Given the description of an element on the screen output the (x, y) to click on. 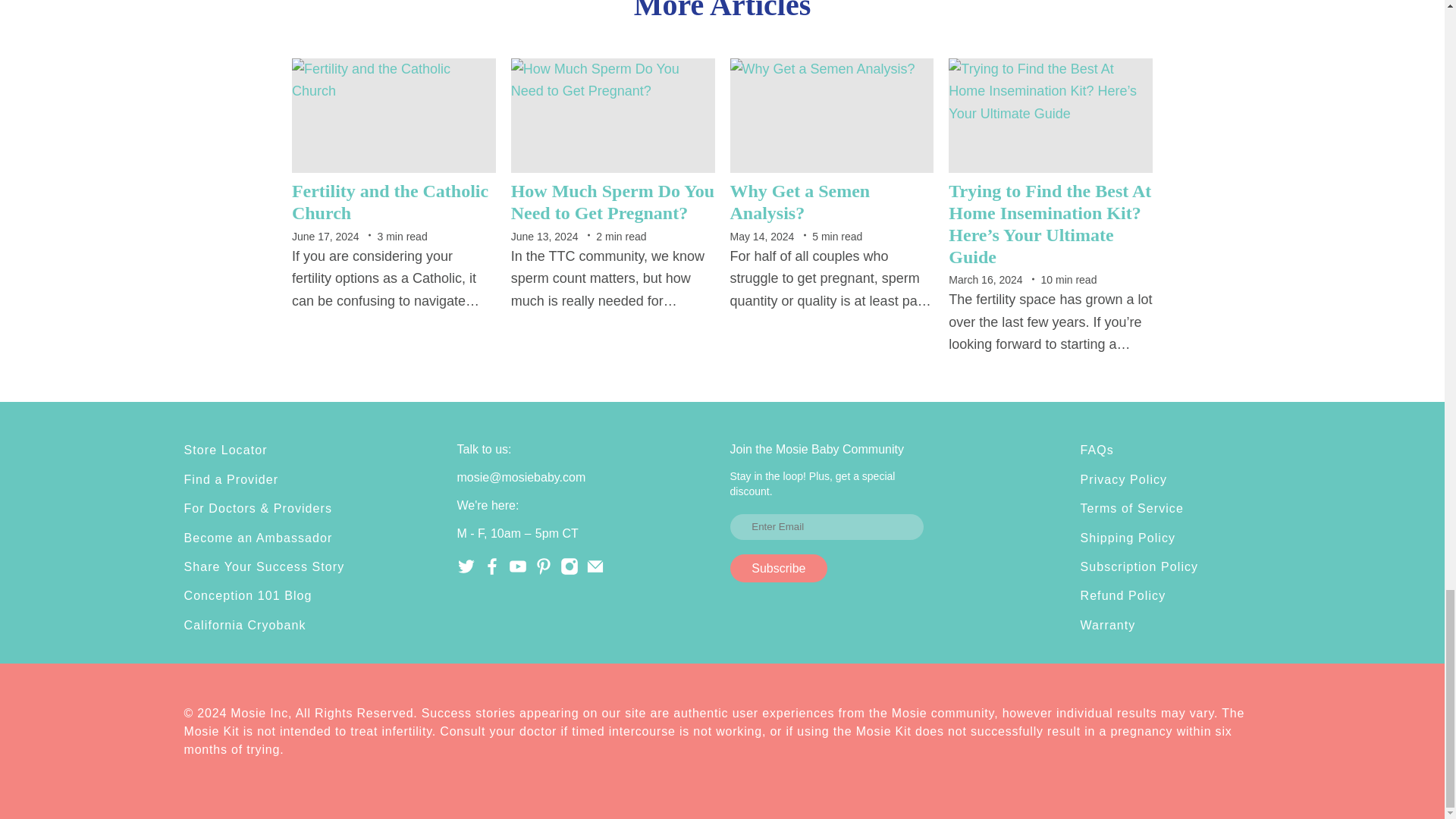
Mosie Baby on Instagram (568, 571)
Mosie Baby on Facebook (490, 571)
Mosie Baby on YouTube (516, 571)
Email Mosie Baby (594, 571)
Mosie Baby on Twitter (465, 571)
Mosie Baby on Pinterest (542, 571)
